Given the description of an element on the screen output the (x, y) to click on. 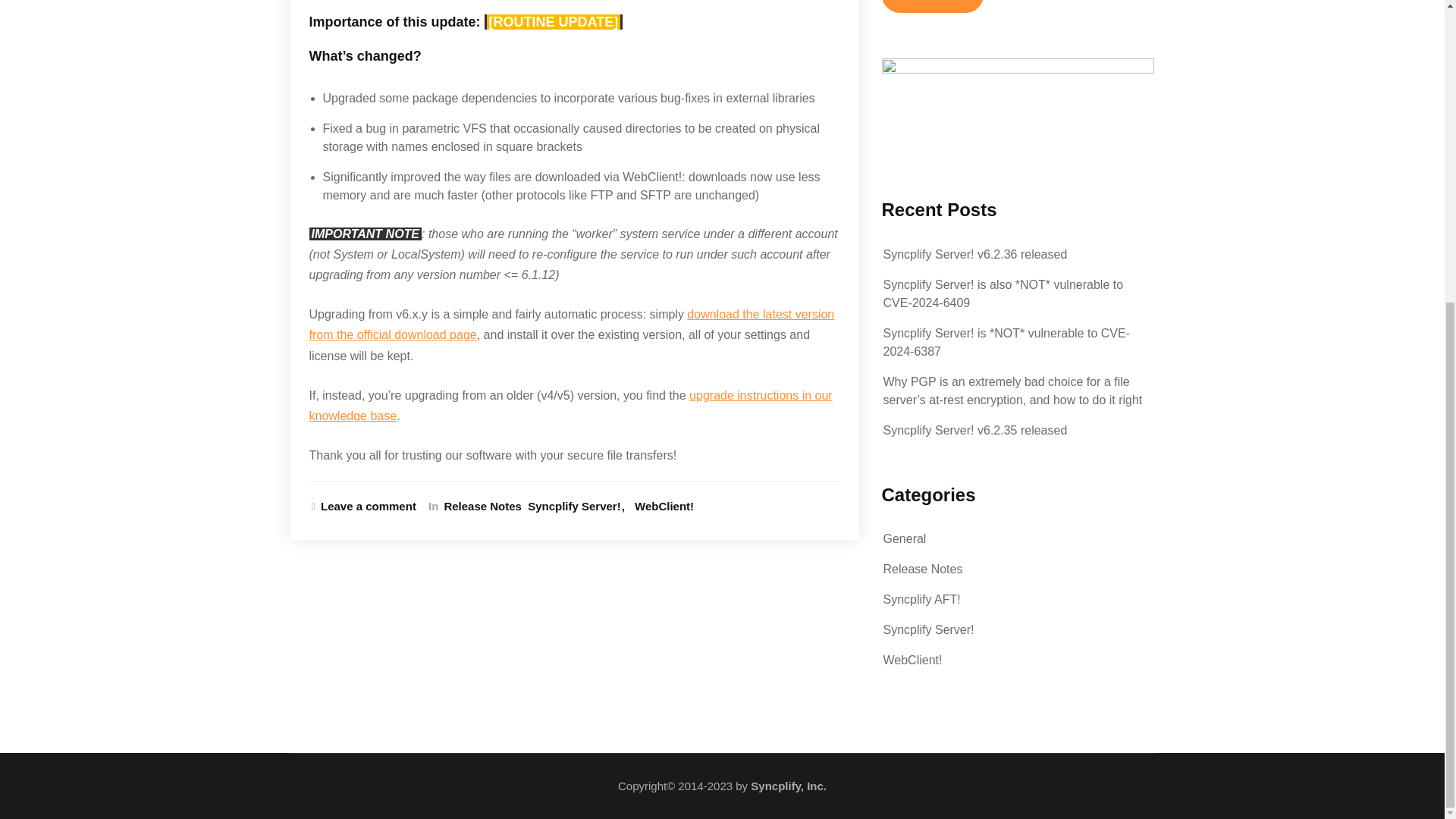
WebClient! (912, 659)
Syncplify, Inc. (789, 785)
Syncplify Server! v6.2.35 released (974, 430)
Search (931, 6)
Syncplify AFT! (920, 599)
General (904, 538)
Syncplify Server! (577, 506)
WebClient! (664, 506)
Syncplify Server! (928, 629)
Release Notes (480, 506)
